Given the description of an element on the screen output the (x, y) to click on. 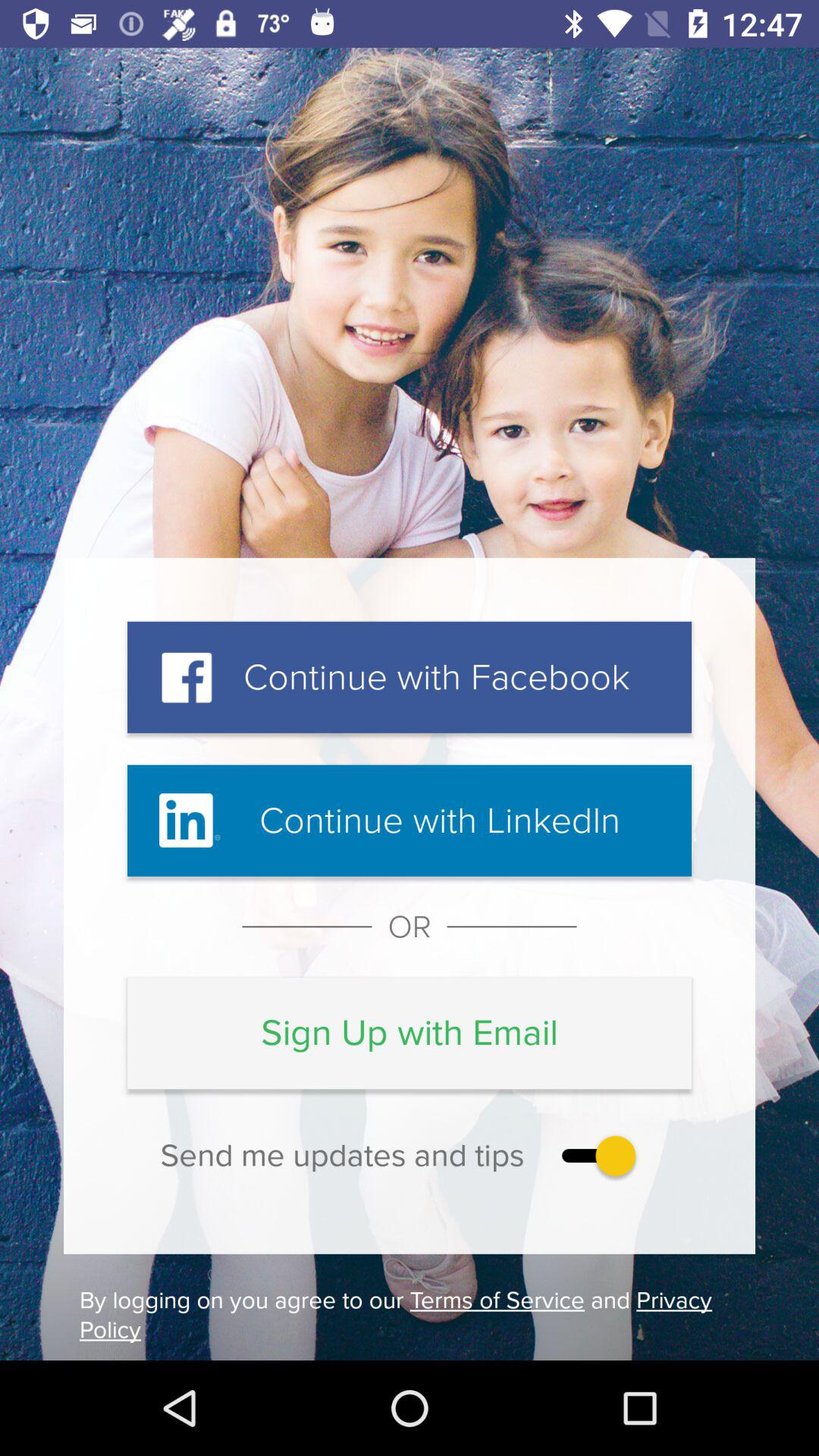
select the item to the right of the send me updates icon (595, 1155)
